Given the description of an element on the screen output the (x, y) to click on. 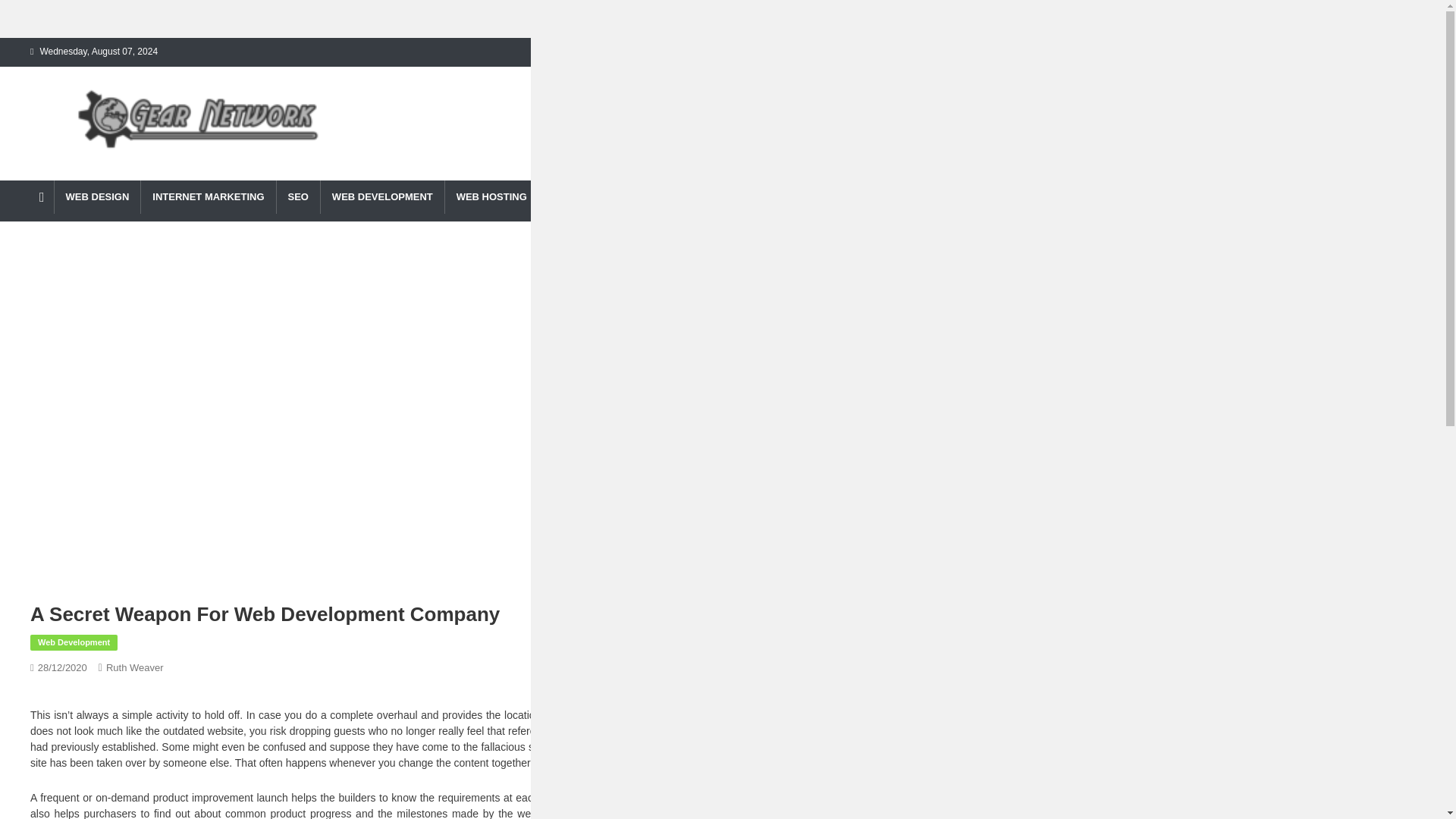
Ruth Weaver (134, 667)
WEB DESIGN (97, 196)
INTERNET MARKETING (207, 196)
Web Development (73, 642)
Gear Network (64, 176)
WEB HOSTING (491, 196)
SEO (298, 196)
WEB DEVELOPMENT (382, 196)
Search (908, 249)
